Given the description of an element on the screen output the (x, y) to click on. 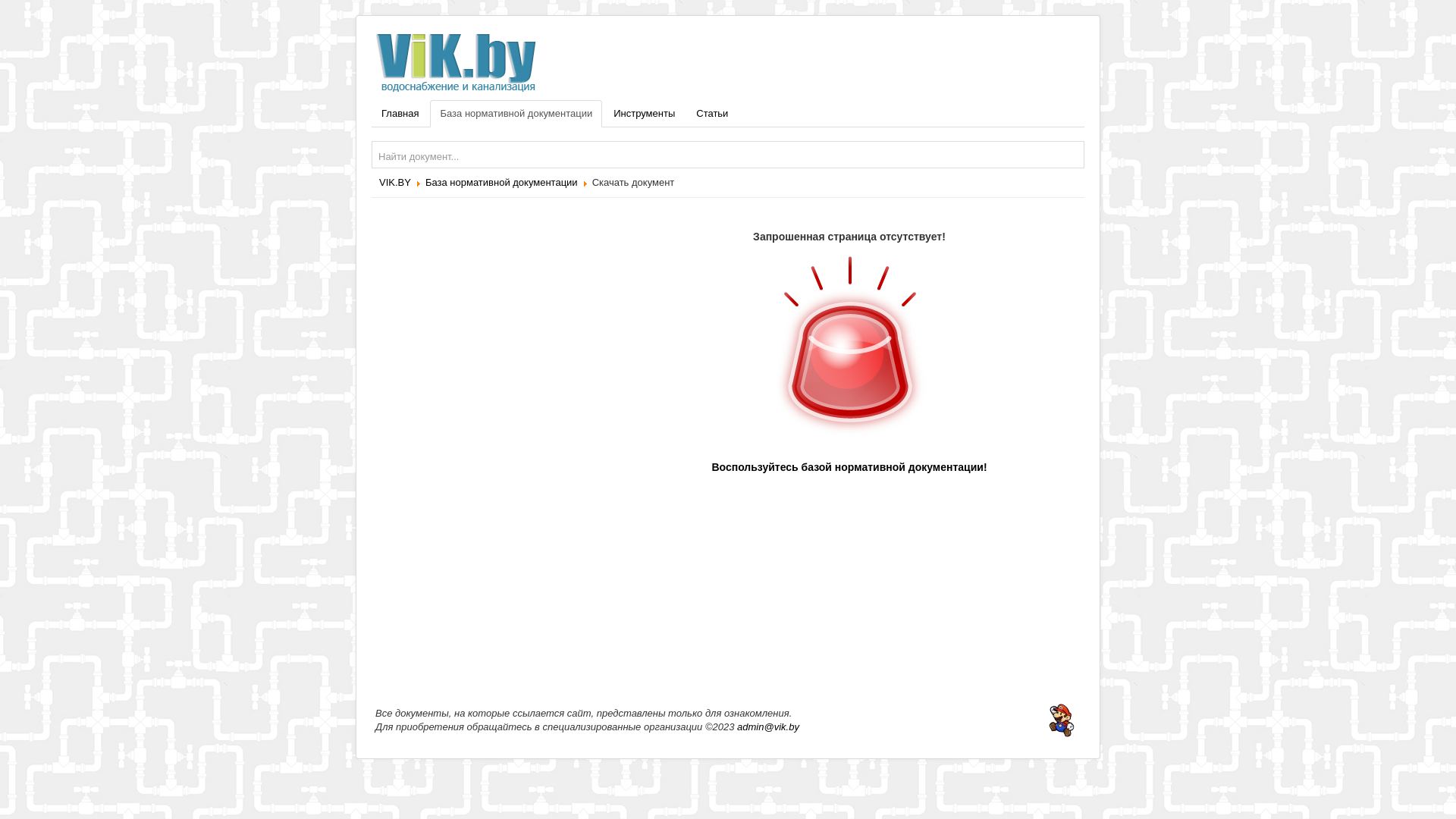
VIK.BY Element type: text (395, 182)
admin@vik.by Element type: text (768, 726)
Advertisement Element type: hover (485, 438)
